Given the description of an element on the screen output the (x, y) to click on. 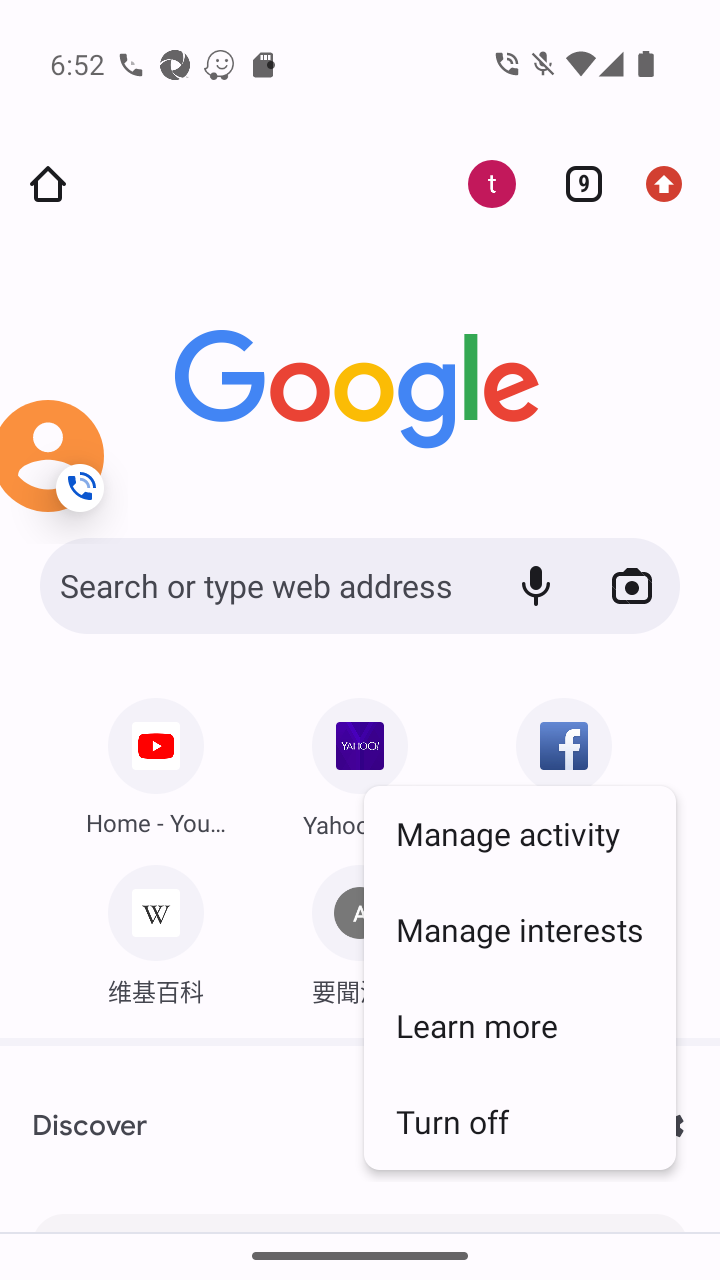
Manage activity (520, 833)
Manage interests (520, 929)
Learn more (520, 1025)
Turn off (520, 1121)
